Given the description of an element on the screen output the (x, y) to click on. 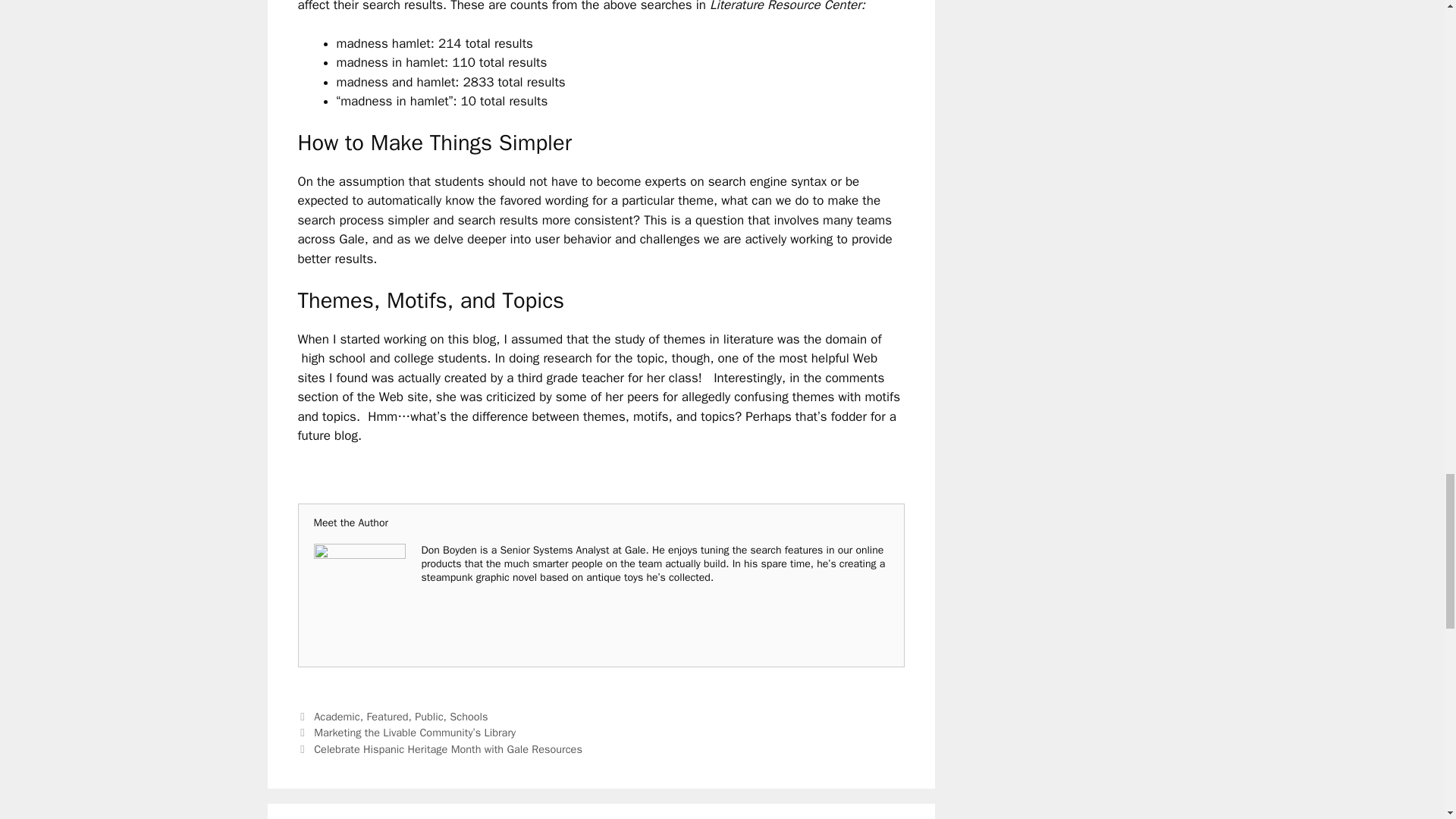
Academic (336, 716)
Celebrate Hispanic Heritage Month with Gale Resources (448, 748)
Public (428, 716)
Schools (468, 716)
Featured (386, 716)
